Given the description of an element on the screen output the (x, y) to click on. 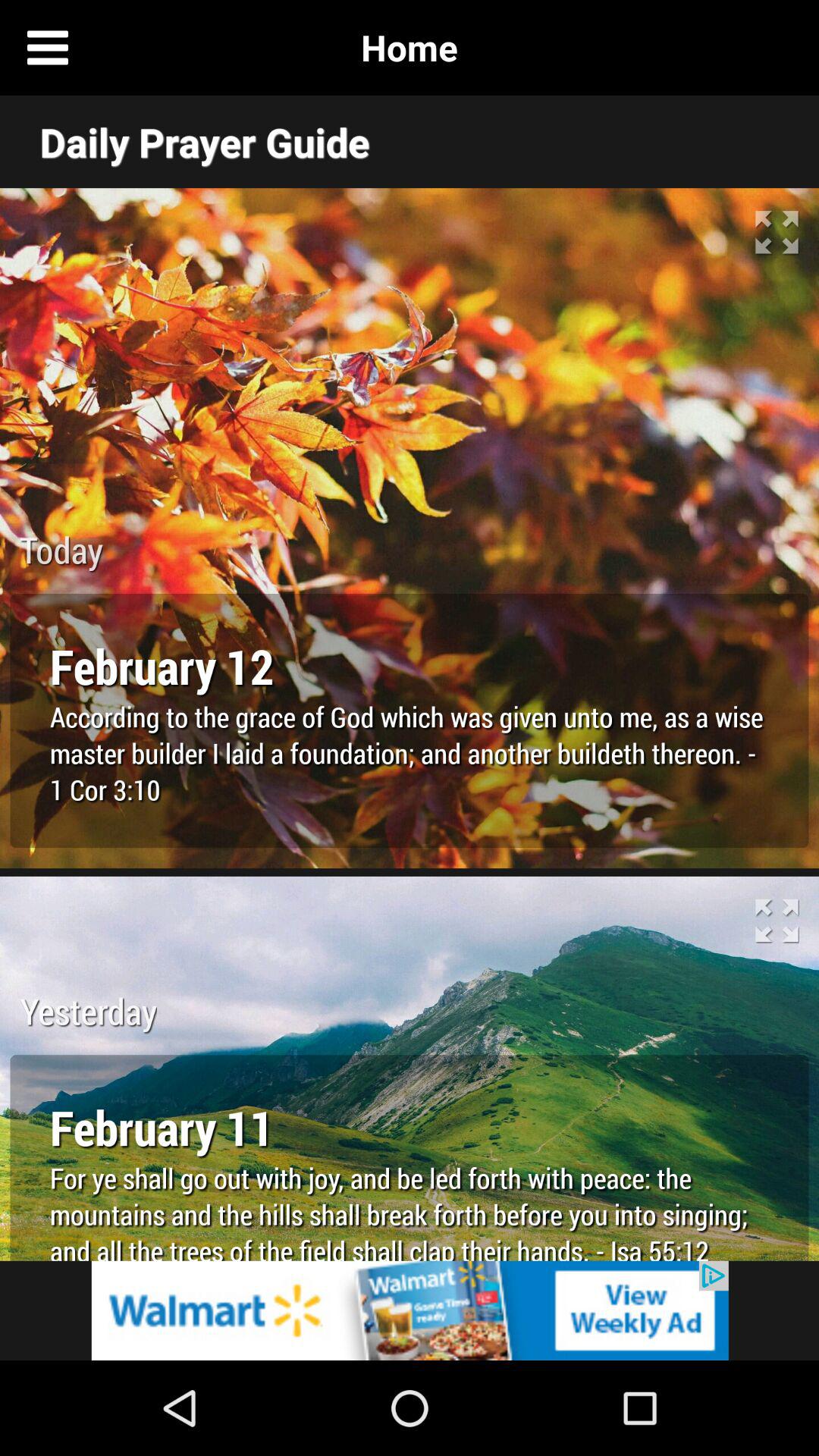
new tab page (771, 47)
